Given the description of an element on the screen output the (x, y) to click on. 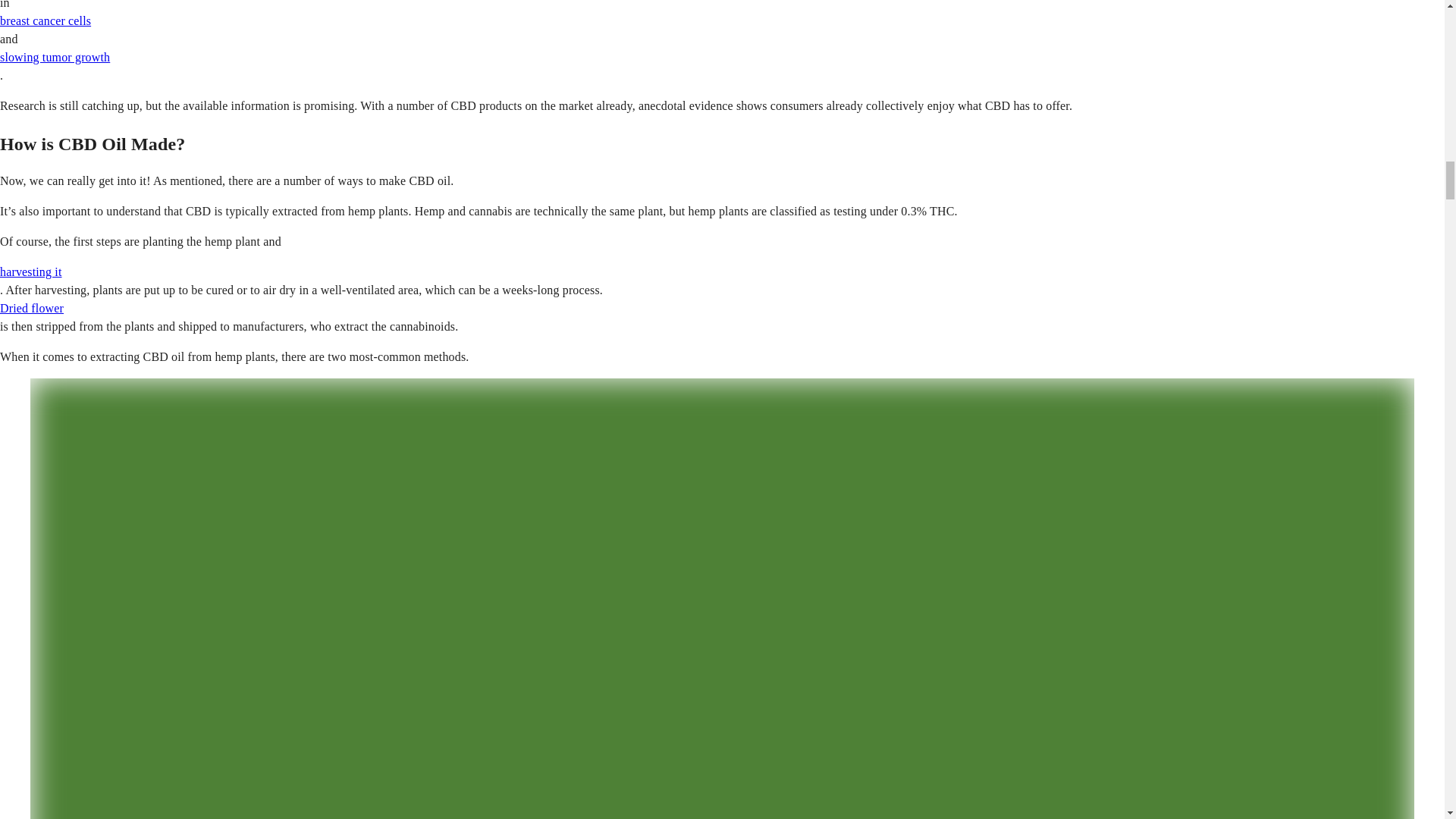
Dried flower (32, 308)
harvesting it (31, 271)
breast cancer cells (45, 20)
slowing tumor growth (55, 56)
